Given the description of an element on the screen output the (x, y) to click on. 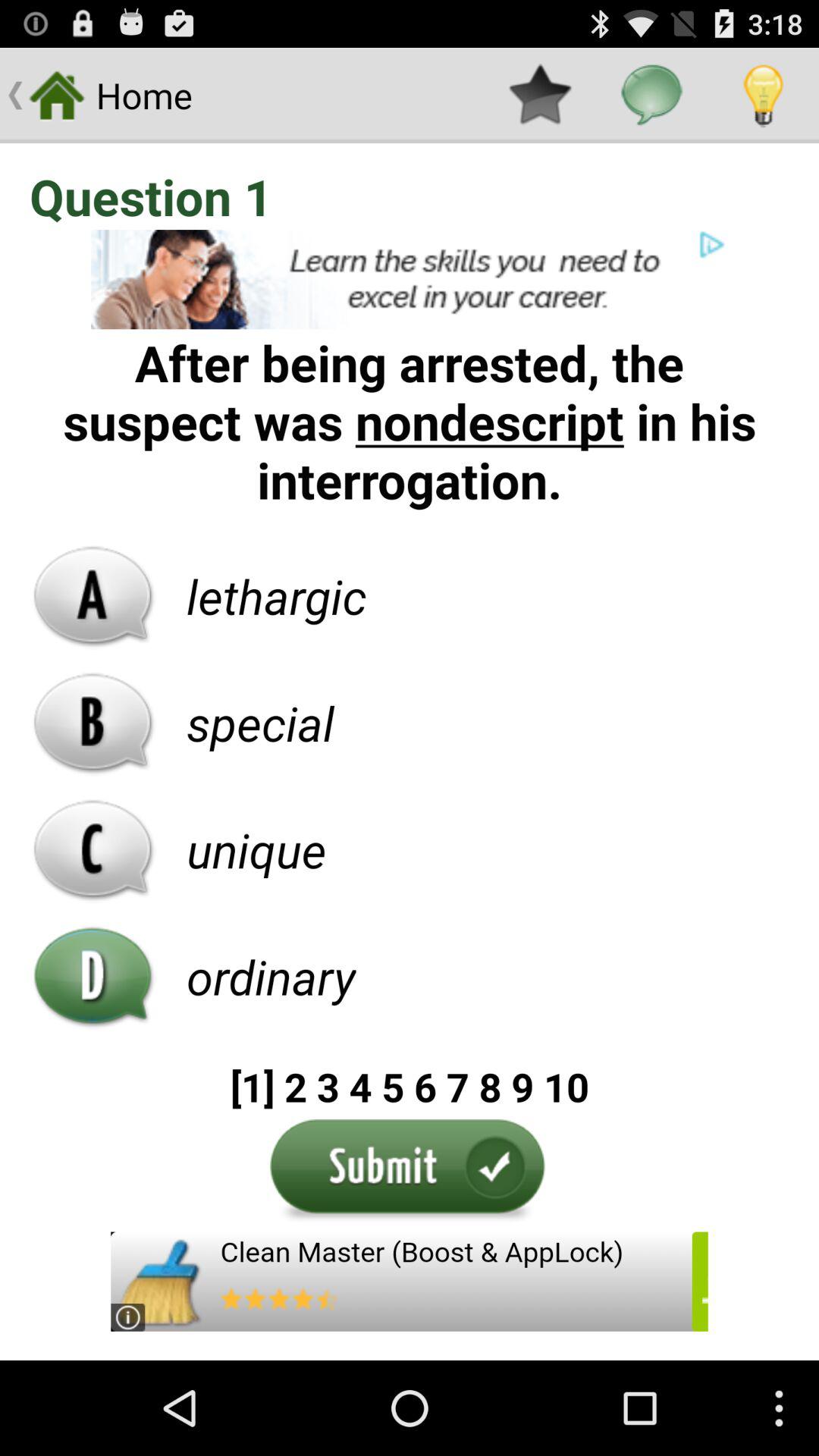
click to install (409, 1281)
